Given the description of an element on the screen output the (x, y) to click on. 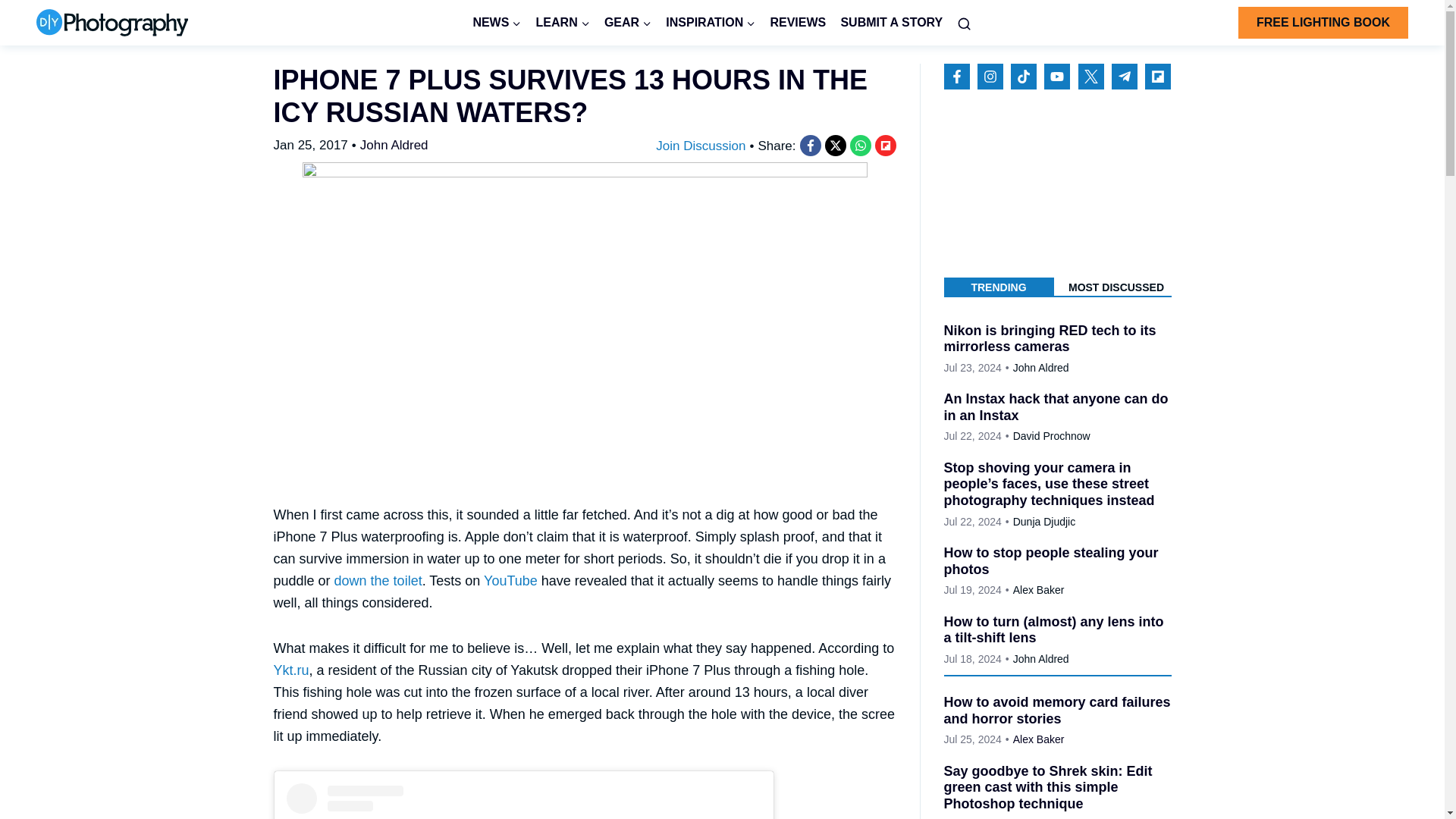
NEWS (496, 22)
Search articles (964, 22)
